Given the description of an element on the screen output the (x, y) to click on. 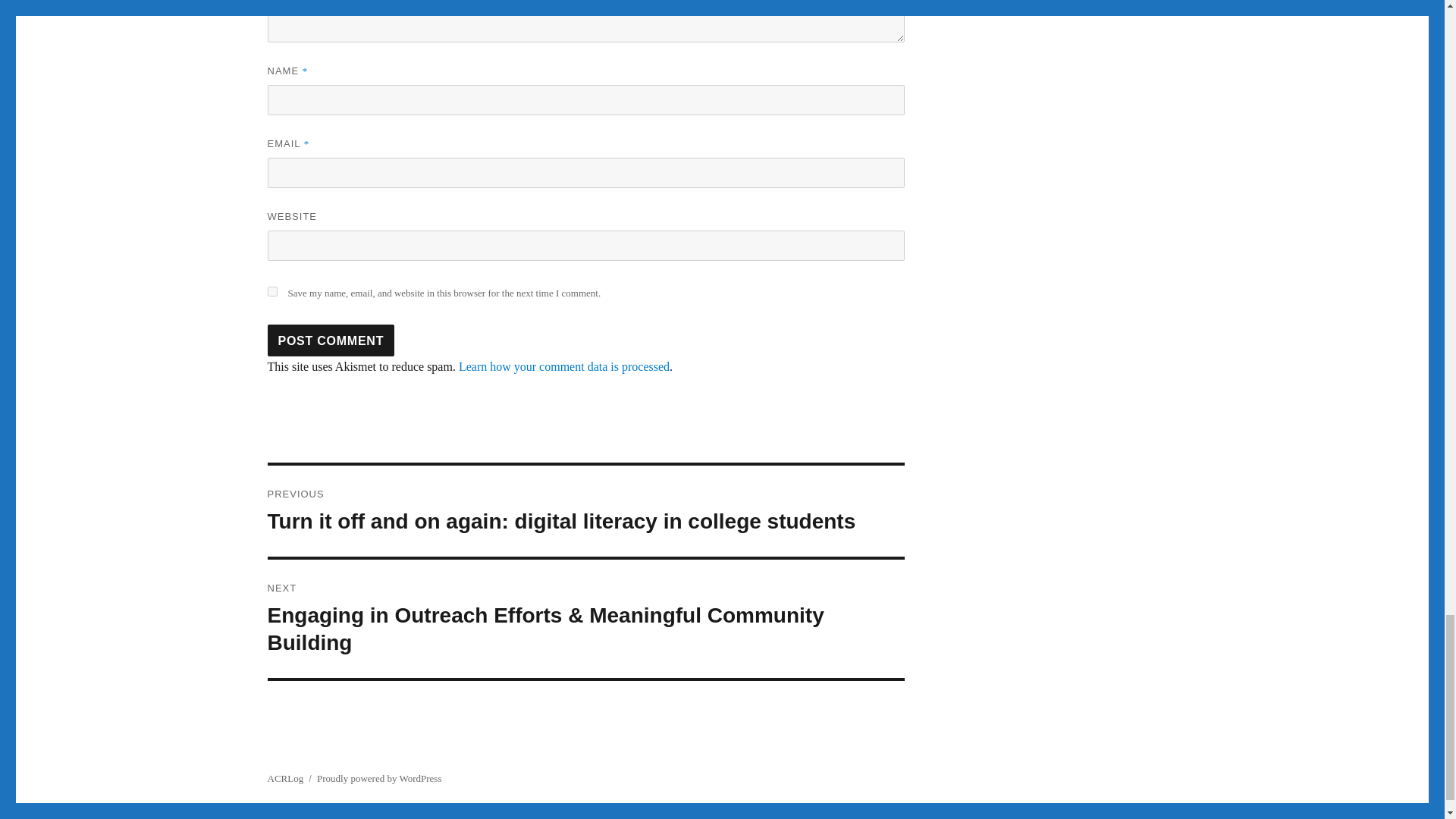
yes (271, 291)
Post Comment (330, 340)
Post Comment (330, 340)
Learn how your comment data is processed (563, 366)
